Given the description of an element on the screen output the (x, y) to click on. 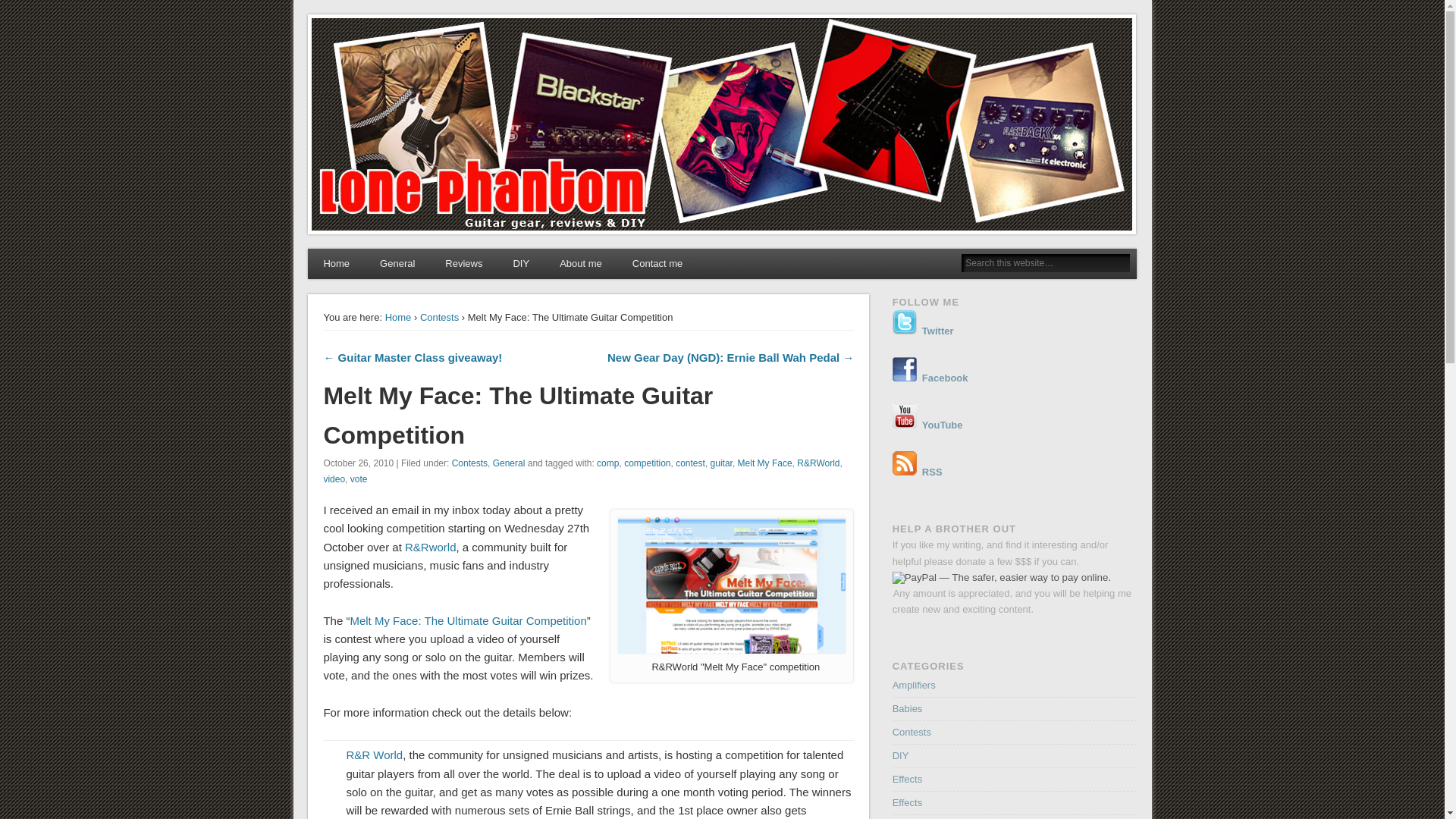
Lone Phantom (380, 37)
Melt My Face: The Ultimate Guitar Competition (467, 620)
Contact me (657, 263)
About me (580, 263)
Twitter (937, 330)
guitar (721, 462)
DIY (520, 263)
General (397, 263)
Melt My Face (765, 462)
video (334, 479)
